Given the description of an element on the screen output the (x, y) to click on. 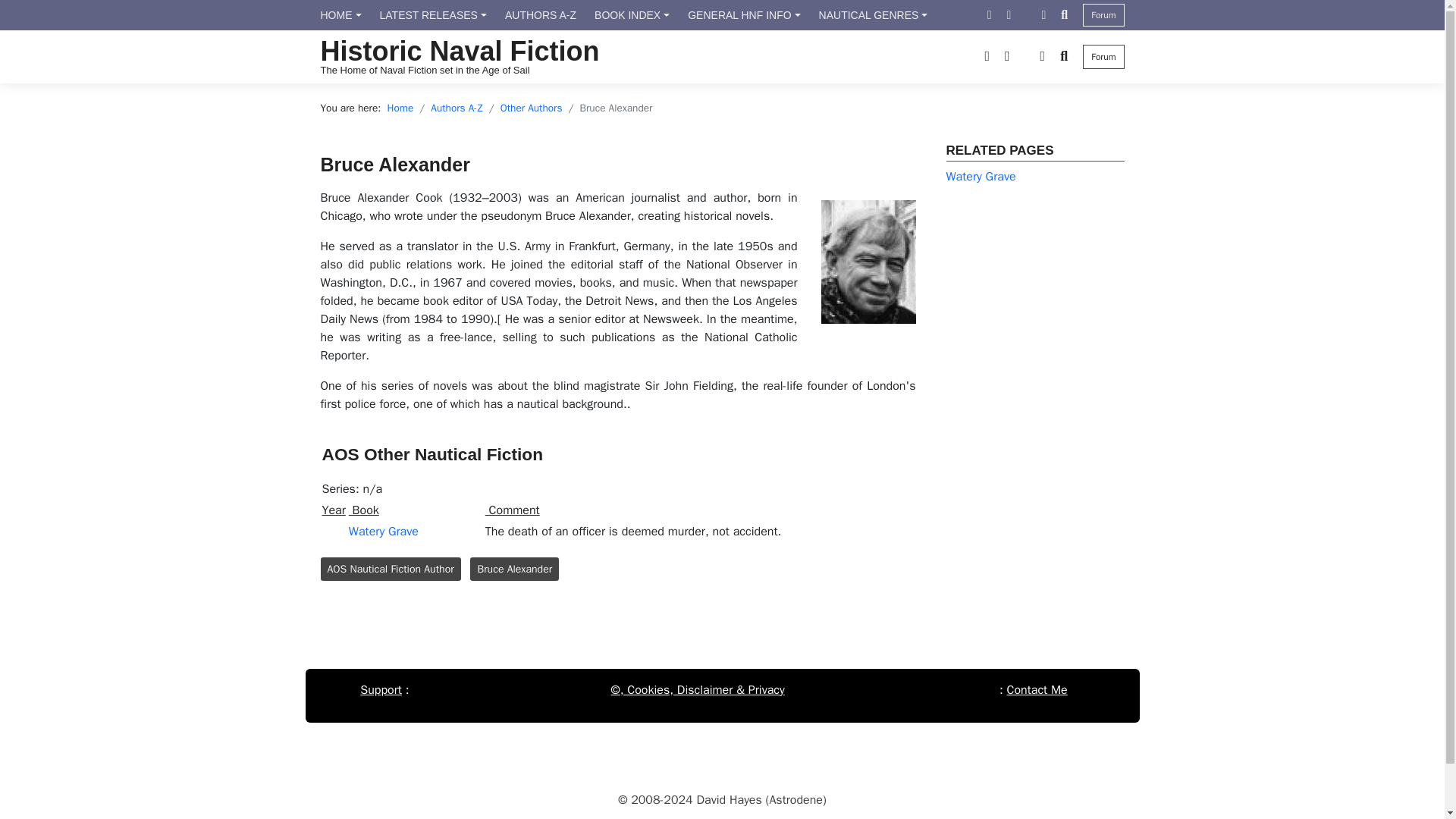
AUTHORS A-Z (540, 15)
Historic Naval Fiction (459, 51)
